Given the description of an element on the screen output the (x, y) to click on. 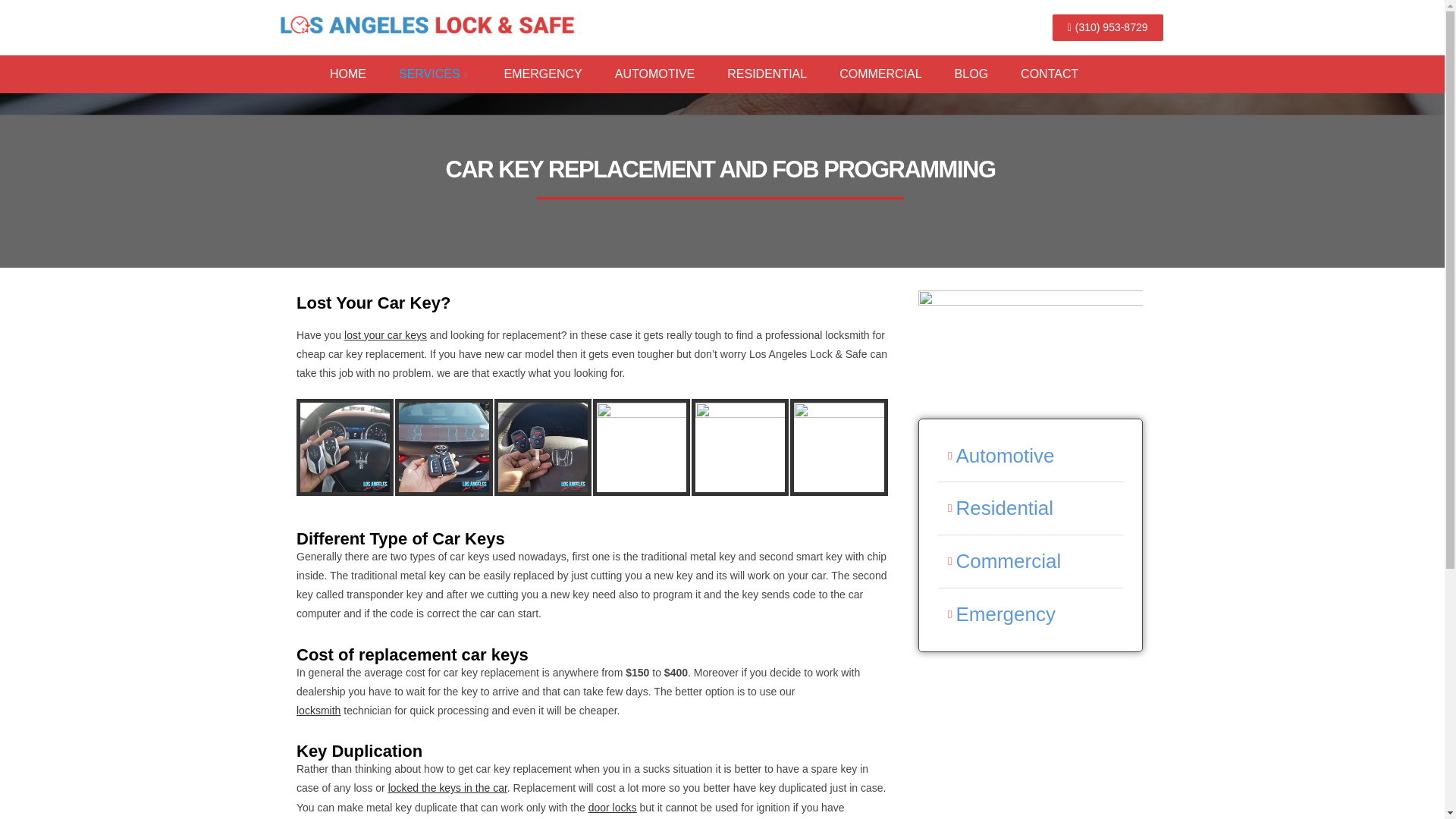
AUTOMOTIVE (671, 74)
RESIDENTIAL (783, 74)
BLOG (987, 74)
EMERGENCY (558, 74)
lost your car keys (384, 335)
COMMERCIAL (896, 74)
HOME (364, 74)
CONTACT (1065, 74)
SERVICES (450, 74)
